Given the description of an element on the screen output the (x, y) to click on. 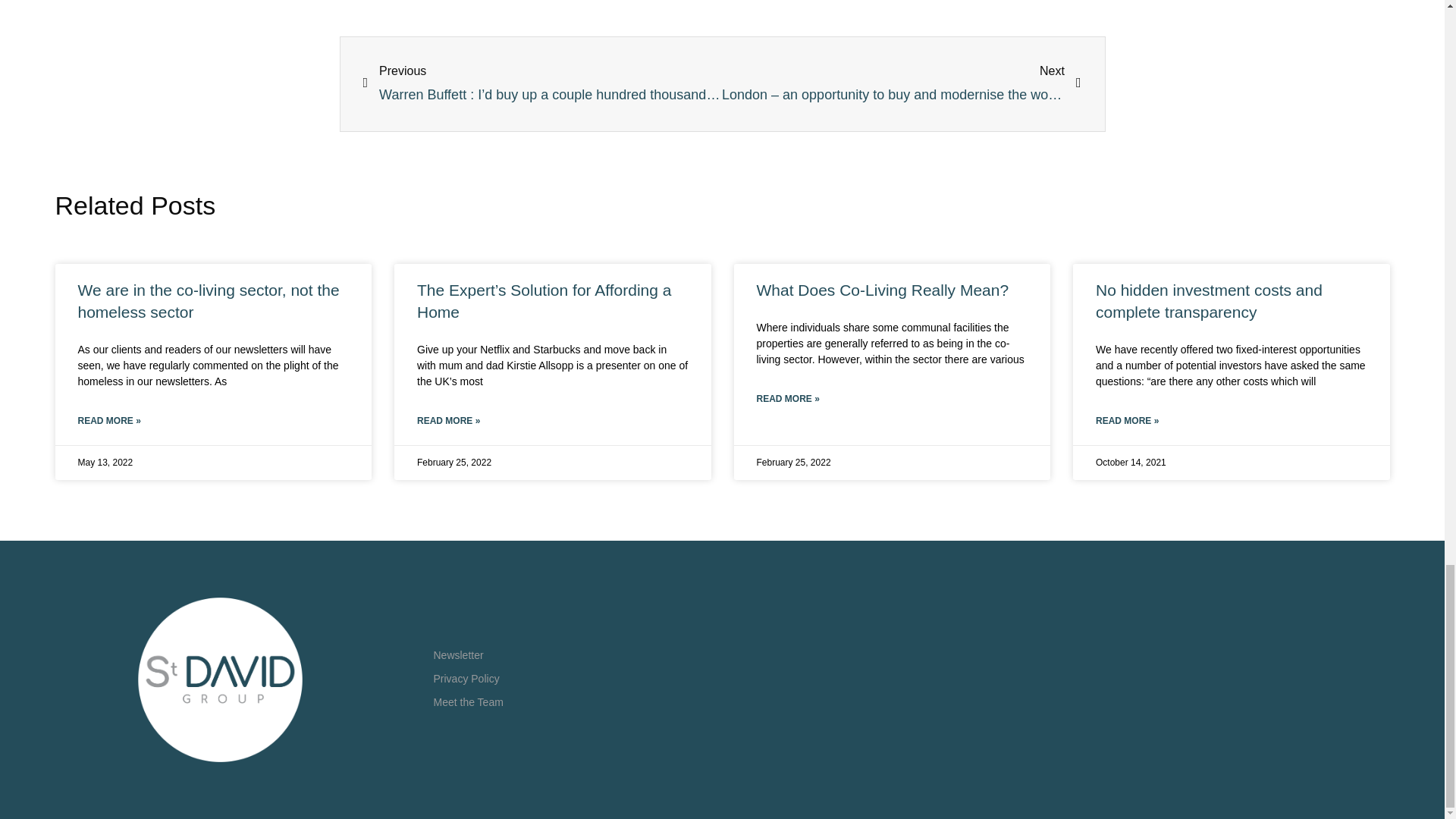
Newsletter (458, 655)
What Does Co-Living Really Mean? (883, 289)
No hidden investment costs and complete transparency (1209, 301)
Meet the Team (468, 702)
We are in the co-living sector, not the homeless sector (208, 301)
Privacy Policy (466, 679)
